Given the description of an element on the screen output the (x, y) to click on. 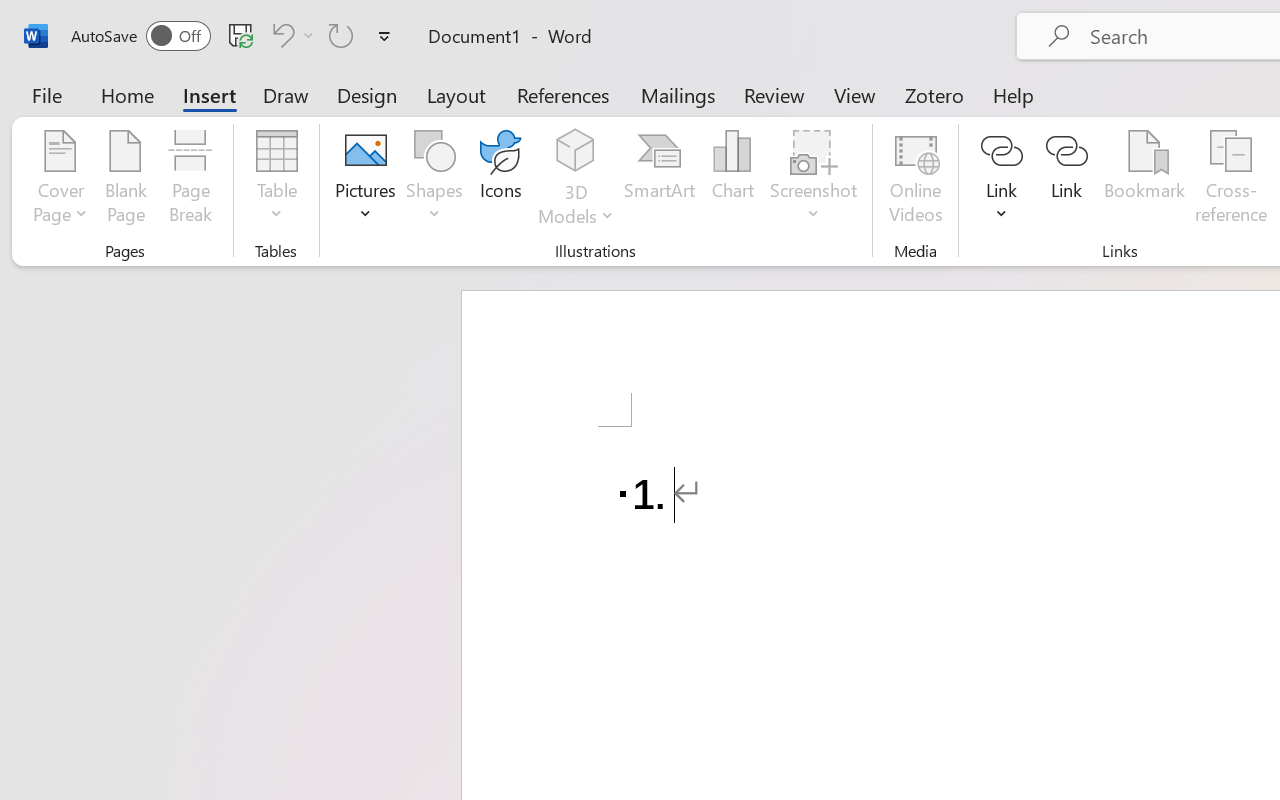
SmartArt... (659, 179)
Page Break (190, 179)
Repeat Doc Close (341, 35)
Link (1066, 179)
Icons (500, 179)
Shapes (435, 179)
Link (1001, 179)
